Given the description of an element on the screen output the (x, y) to click on. 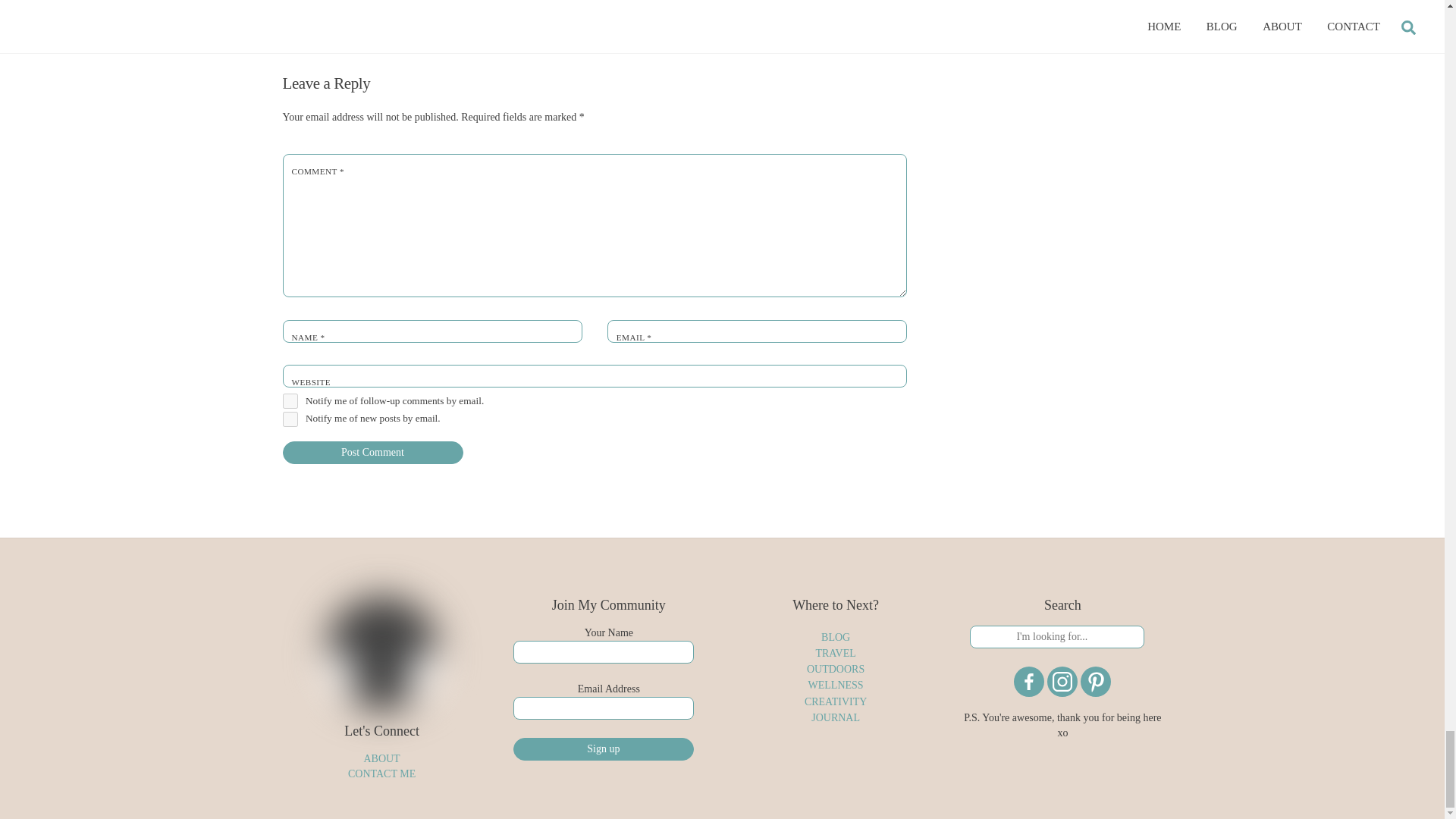
Post Comment (372, 486)
WELLNESS (594, 12)
Sign up (603, 783)
subscribe (289, 453)
subscribe (289, 435)
Facebook (1028, 716)
